Given the description of an element on the screen output the (x, y) to click on. 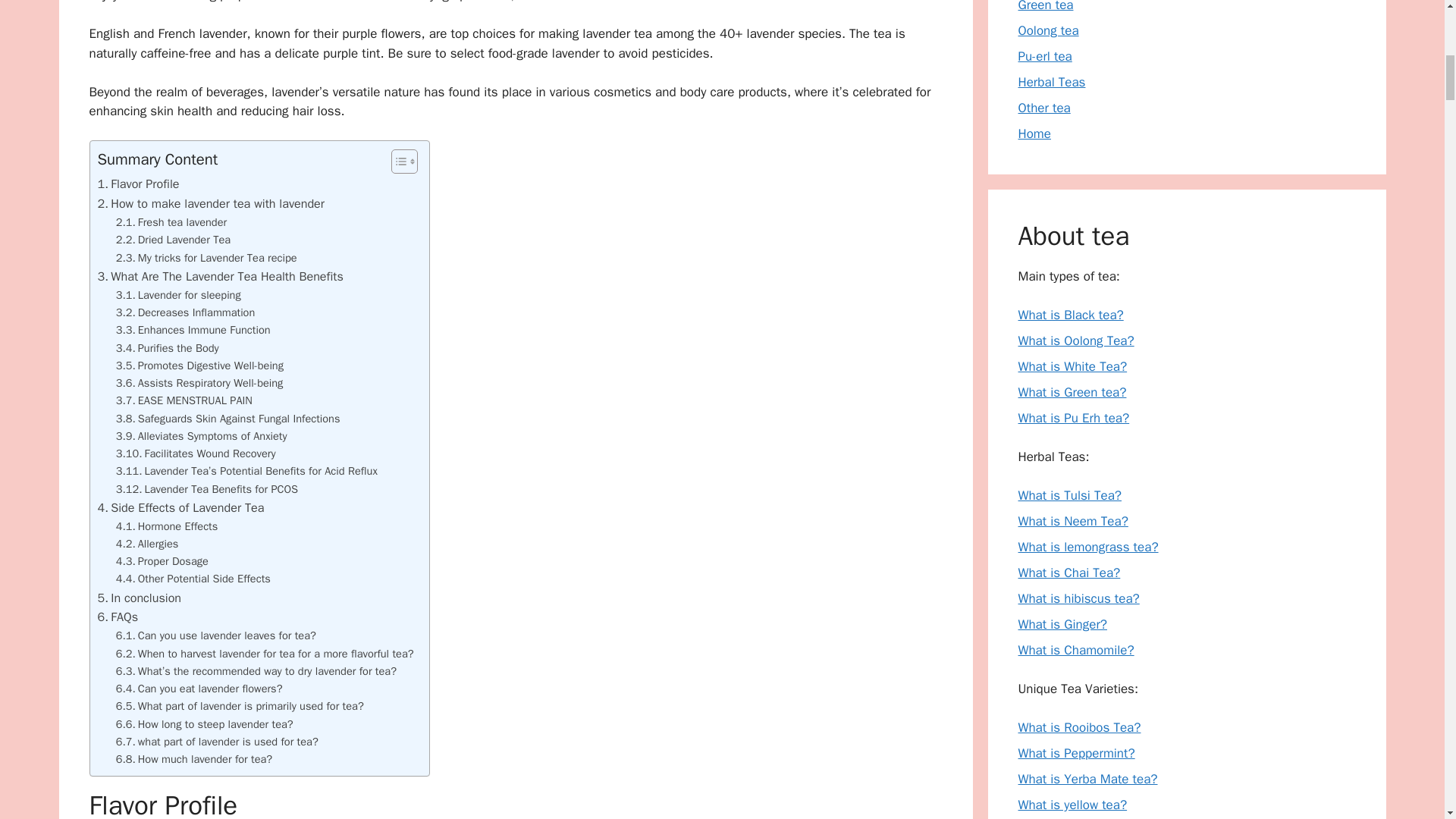
Decreases Inflammation (186, 312)
My tricks for Lavender Tea recipe (206, 257)
Enhances Immune Function (193, 330)
Flavor Profile (138, 184)
Assists Respiratory Well-being (199, 383)
Lavender for sleeping (178, 294)
Fresh tea lavender (171, 221)
Purifies the Body (167, 348)
Decreases Inflammation (186, 312)
Promotes Digestive Well-being (199, 365)
